Given the description of an element on the screen output the (x, y) to click on. 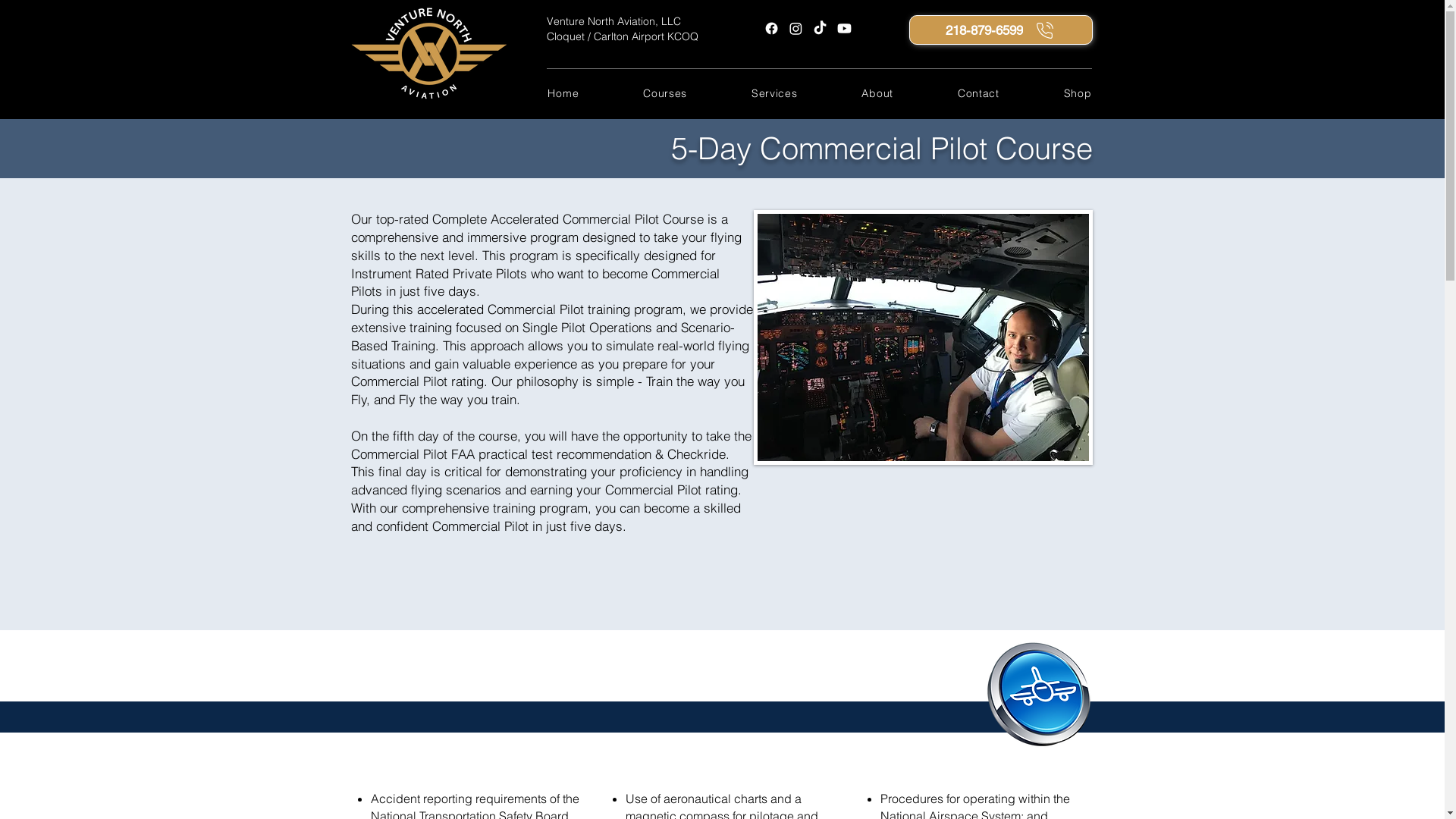
Courses Element type: text (662, 92)
Services Element type: text (771, 92)
Shop Element type: text (1075, 92)
About Element type: text (874, 92)
218-879-6599 Element type: text (1000, 29)
Contact Element type: text (975, 92)
Home Element type: text (560, 92)
